Given the description of an element on the screen output the (x, y) to click on. 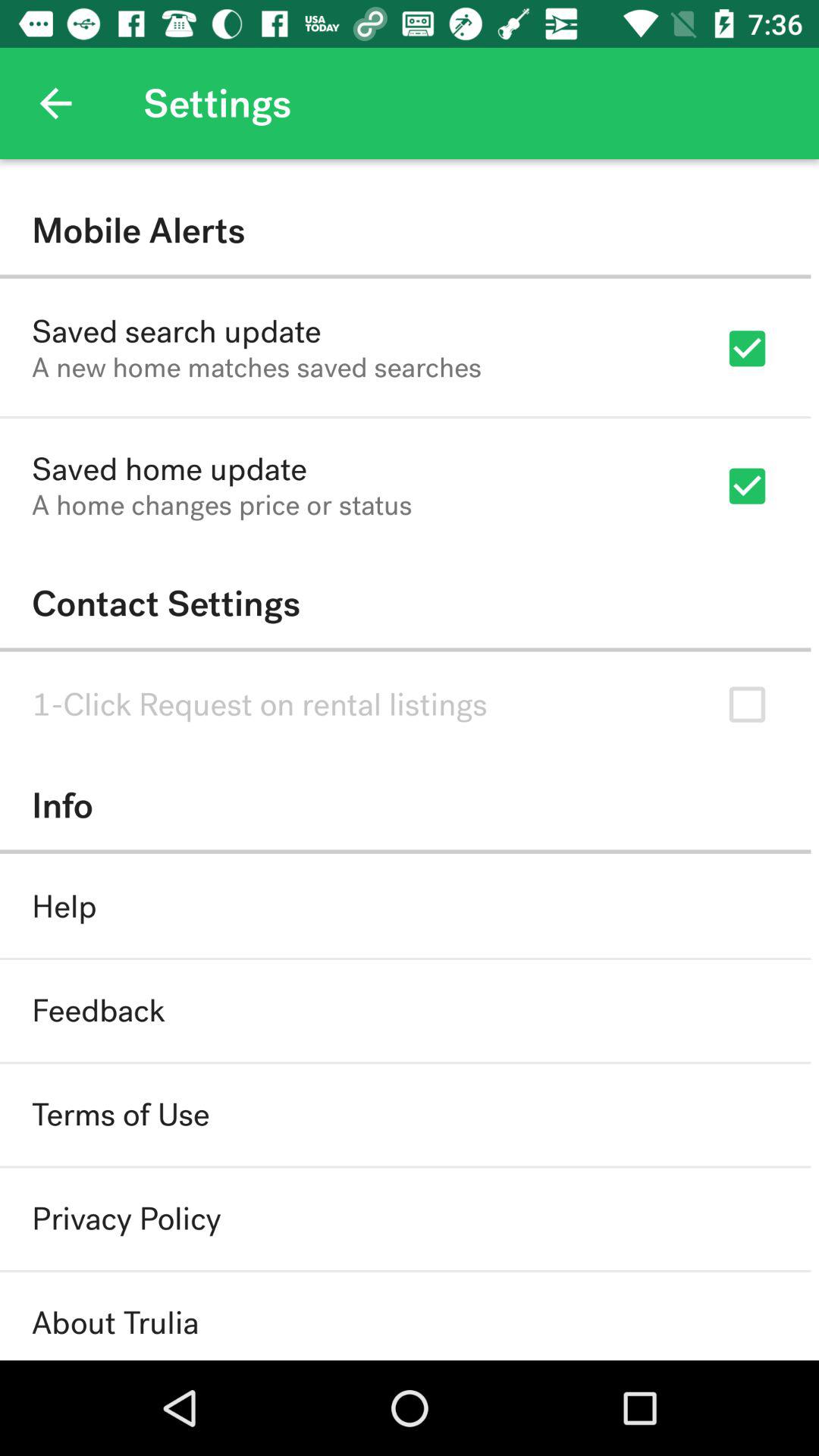
press item below the a home changes icon (405, 603)
